Given the description of an element on the screen output the (x, y) to click on. 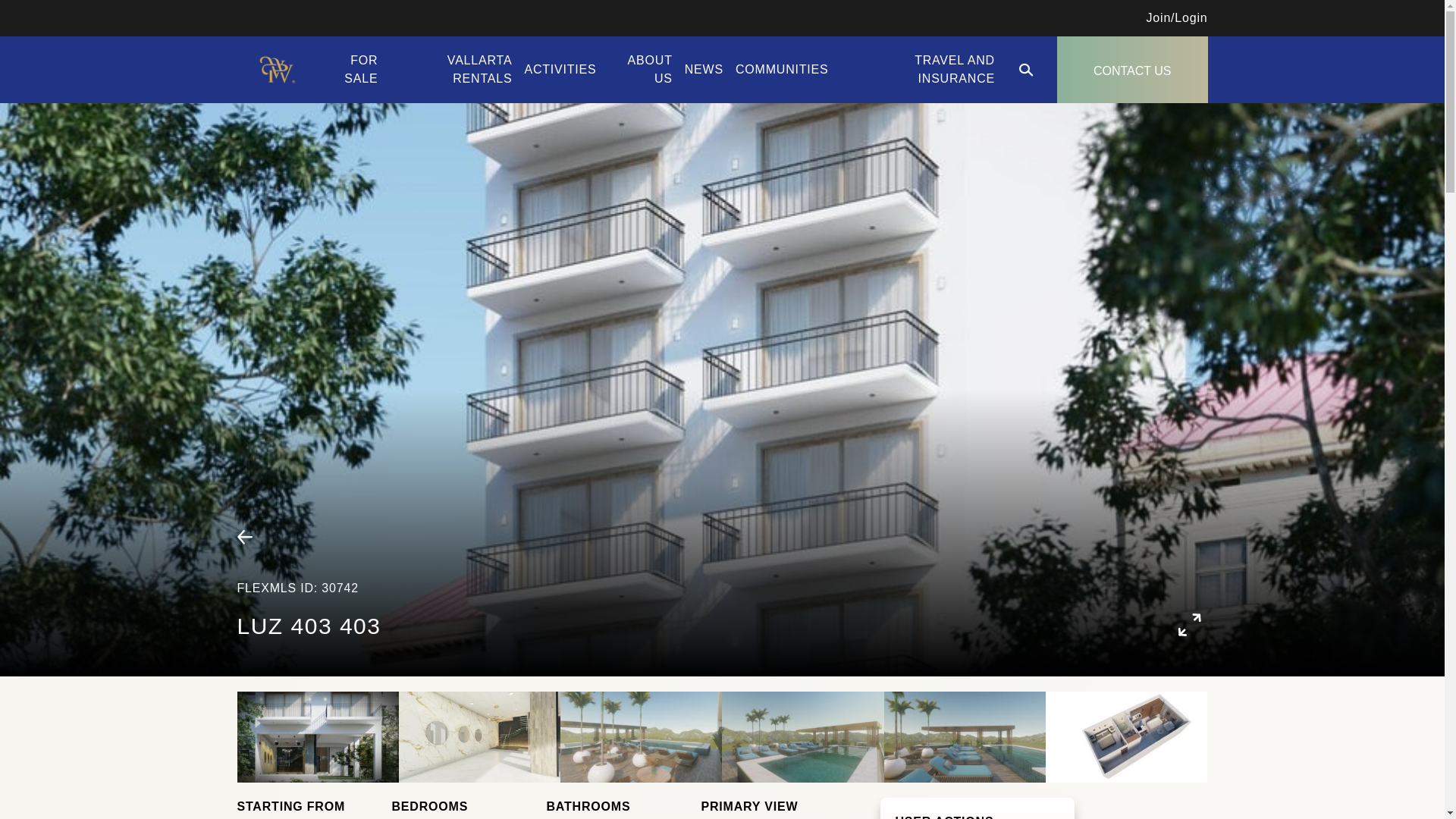
VALLARTA RENTALS (479, 69)
TRAVEL AND INSURANCE (954, 69)
FOR SALE (360, 69)
ACTIVITIES (559, 69)
ABOUT US (649, 69)
COMMUNITIES (781, 69)
CONTACT US (1132, 69)
NEWS (703, 69)
